Given the description of an element on the screen output the (x, y) to click on. 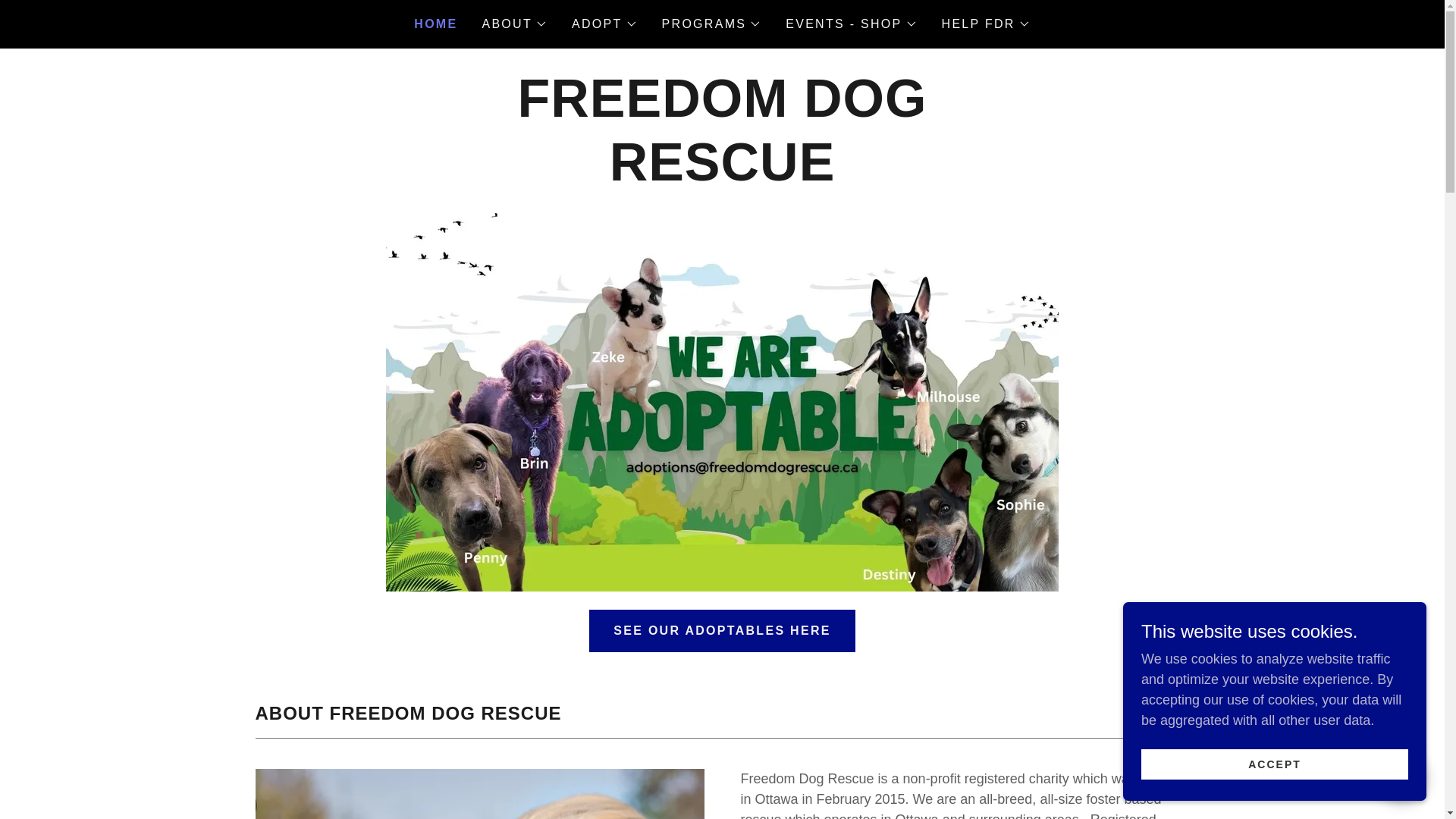
PROGRAMS (711, 24)
HELP FDR (986, 24)
HOME (435, 24)
ADOPT (604, 24)
ABOUT (514, 24)
EVENTS - SHOP (851, 24)
FREEDOM DOG RESCUE  (721, 175)
